Given the description of an element on the screen output the (x, y) to click on. 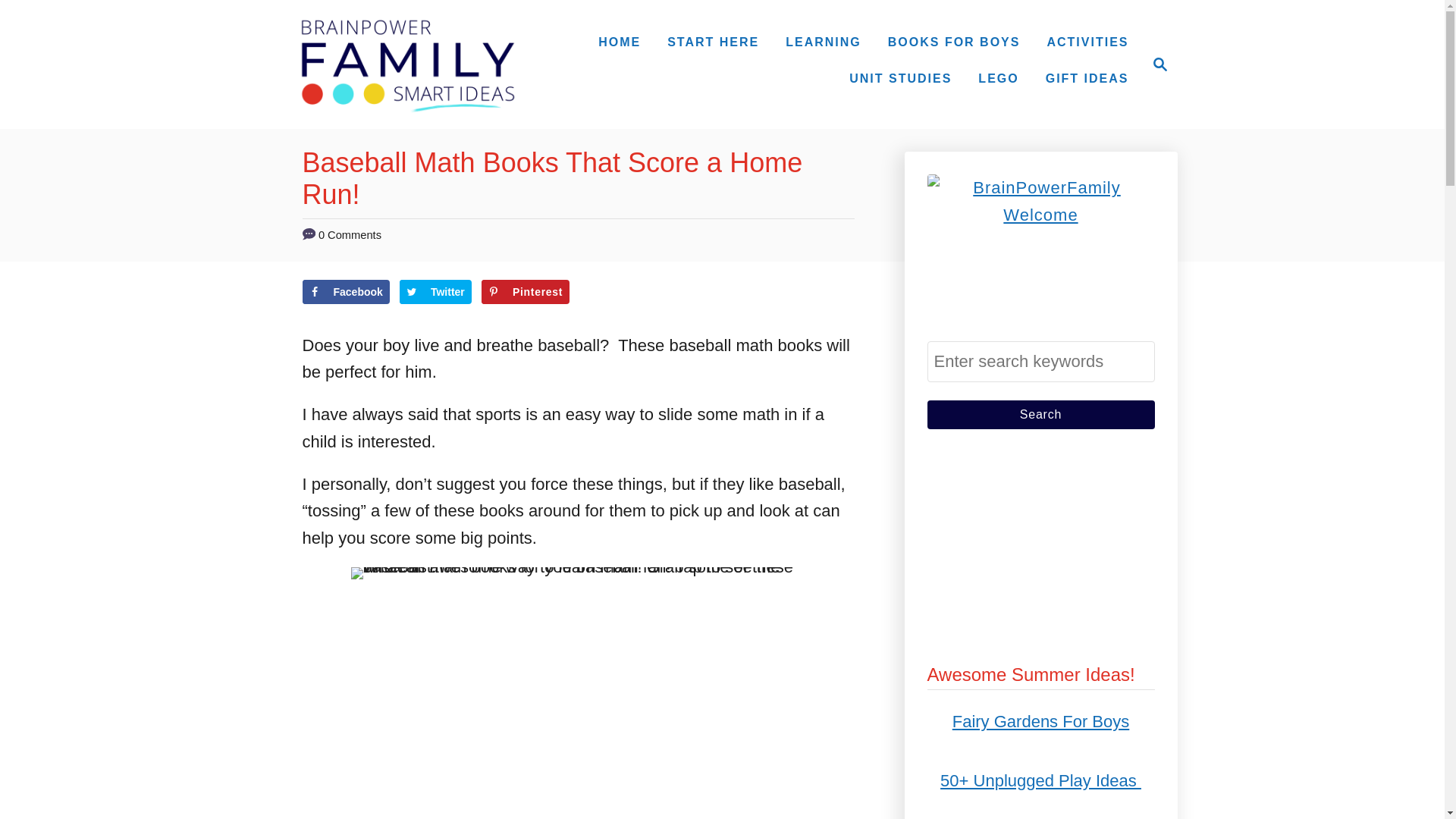
Activities for Boys (1087, 41)
Search (1155, 64)
Magnifying Glass (1040, 414)
Share on Facebook (1160, 64)
HOME (344, 291)
Twitter (619, 41)
Share on Twitter (434, 291)
Start Here (434, 291)
Gift Ideas for Boys (713, 41)
ACTIVITIES (1087, 78)
LEARNING (1087, 41)
Pinterest (823, 41)
Best Books for Boys (525, 291)
Brain Power Boy Home (953, 41)
